Given the description of an element on the screen output the (x, y) to click on. 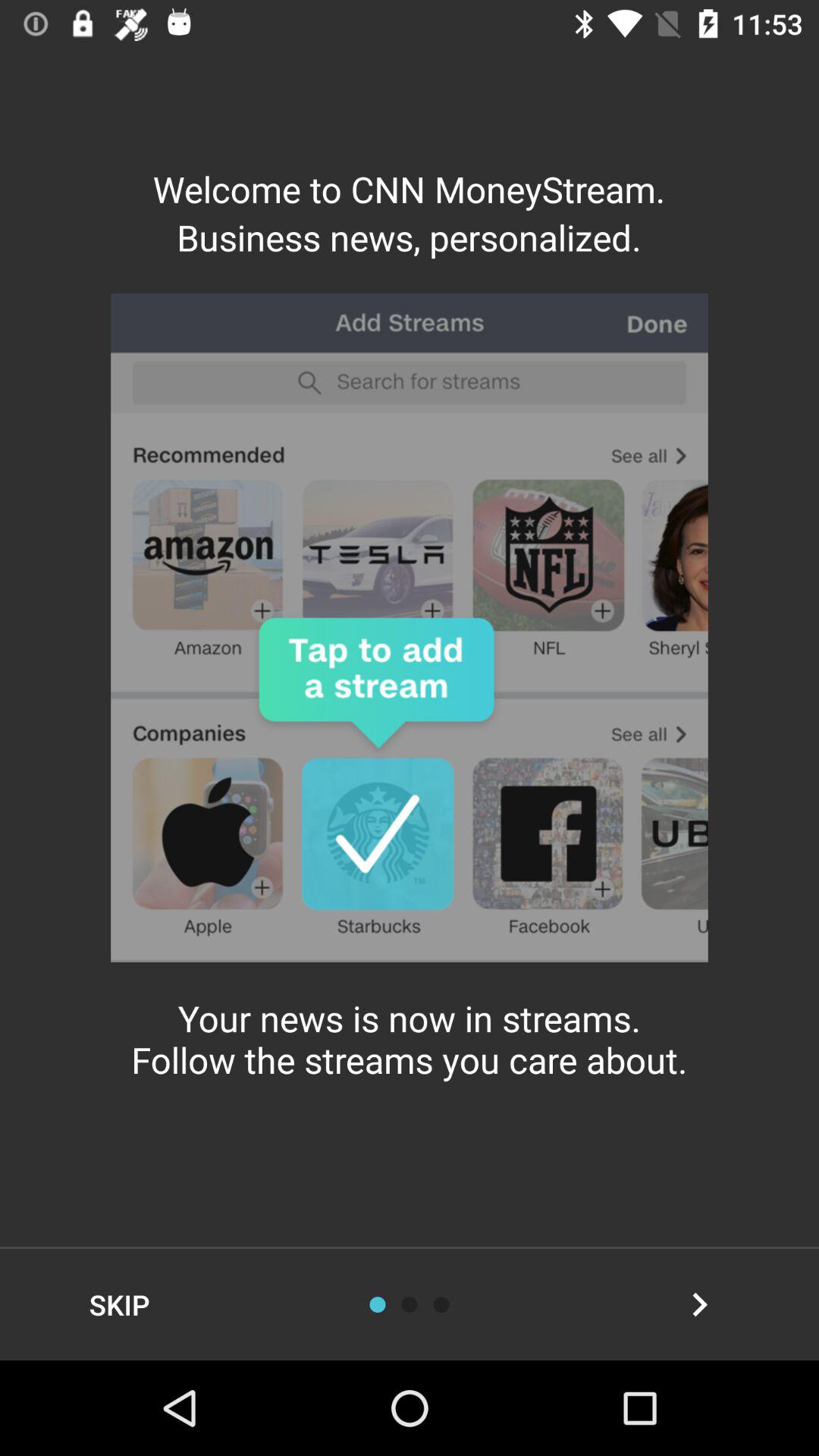
go to third page (441, 1304)
